Given the description of an element on the screen output the (x, y) to click on. 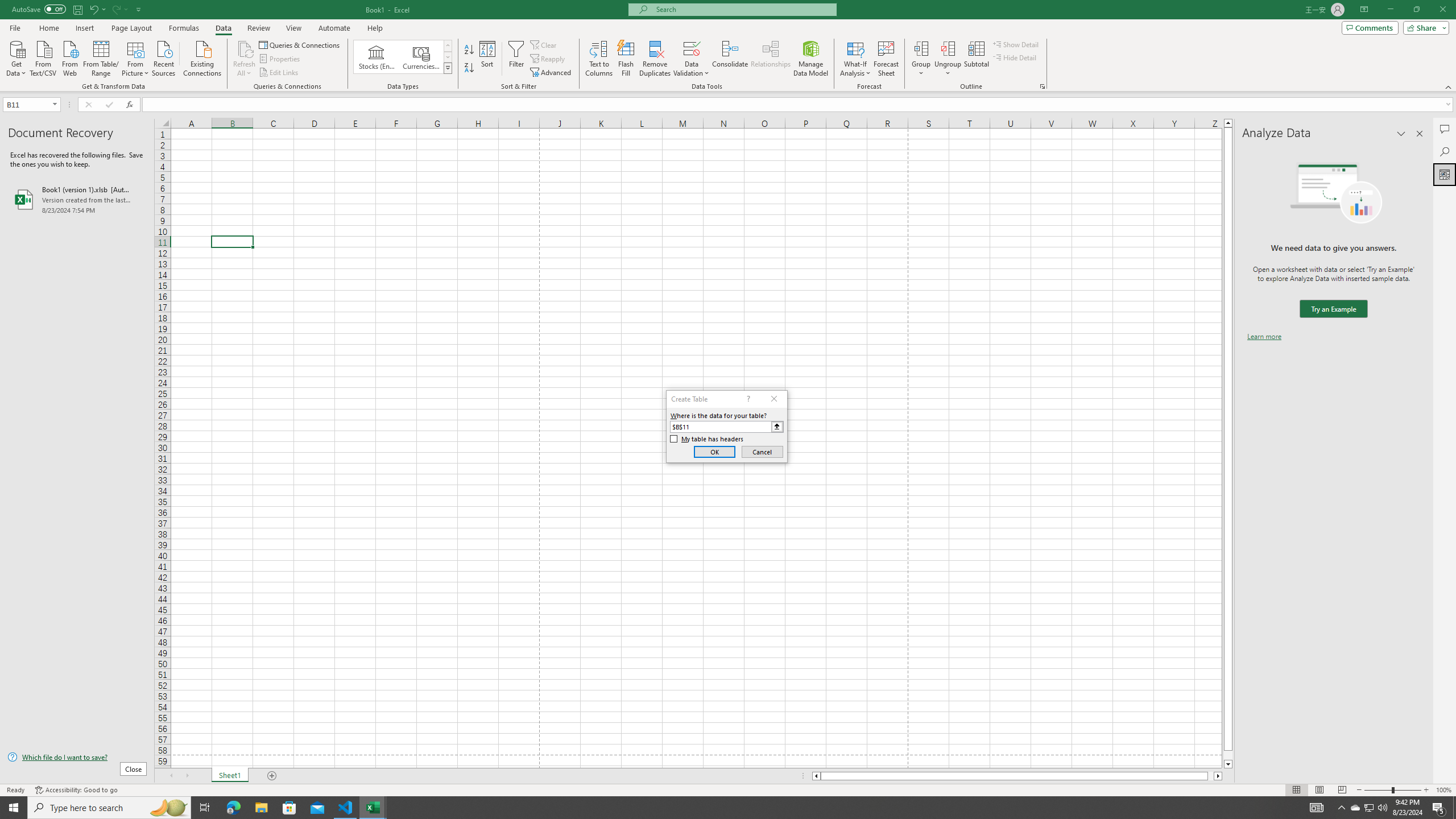
Queries & Connections (300, 44)
Hide Detail (1014, 56)
AutoSave (38, 9)
What-If Analysis (855, 58)
Page down (1228, 755)
Line down (1228, 764)
Class: NetUIImage (447, 68)
Class: MsoCommandBar (728, 45)
Zoom Out (1377, 790)
Quick Access Toolbar (77, 9)
Formulas (184, 28)
Filter (515, 58)
Home (48, 28)
Task Pane Options (1400, 133)
